Given the description of an element on the screen output the (x, y) to click on. 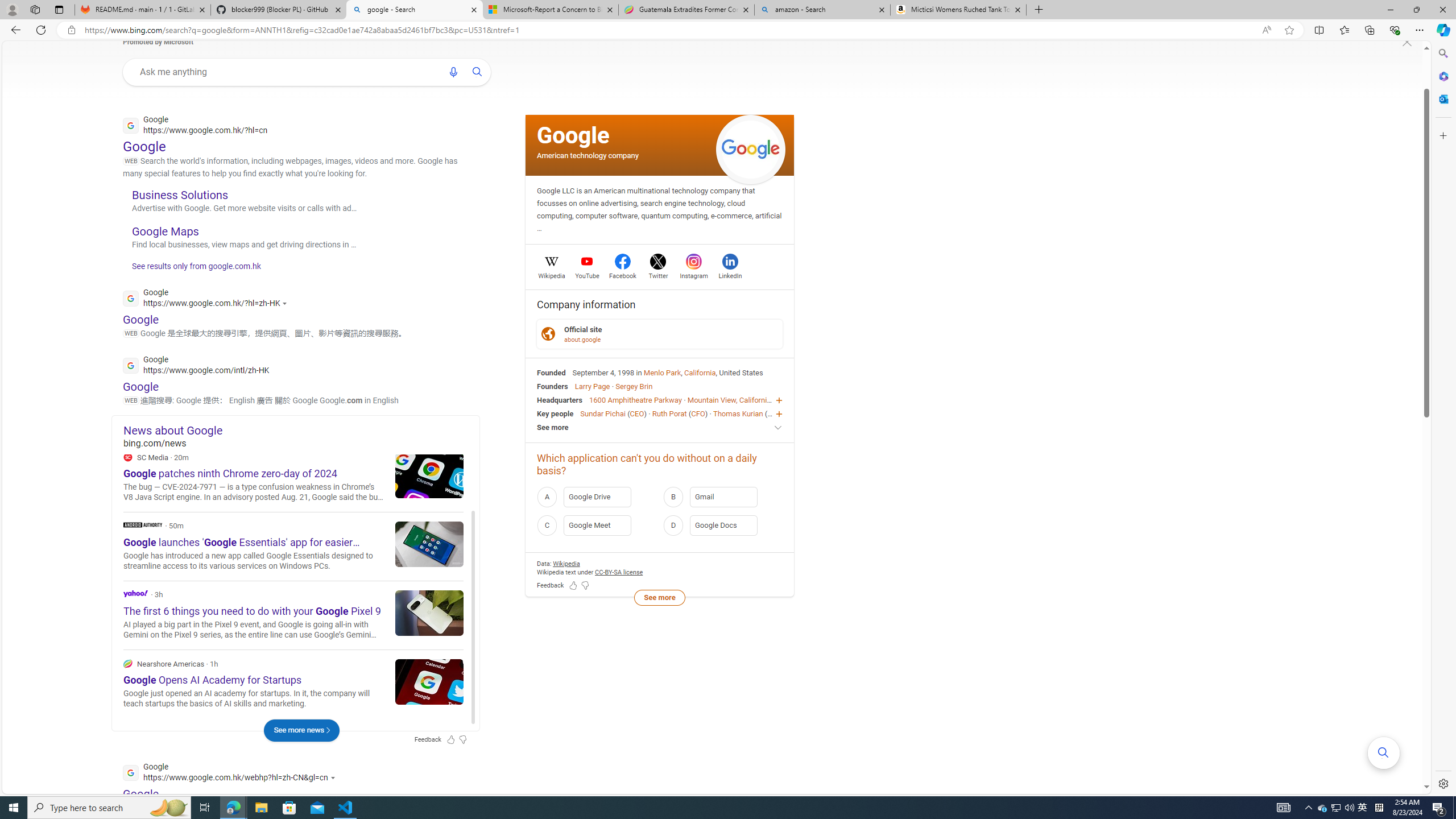
bing.com/news (301, 442)
A Google Drive (596, 496)
Feedback Dislike (584, 585)
News about Google (301, 429)
American technology company (588, 154)
Android Authority (293, 545)
amazon - Search (822, 9)
Nearshore Americas (127, 663)
Headquarters (559, 399)
Search using voice (452, 71)
